Given the description of an element on the screen output the (x, y) to click on. 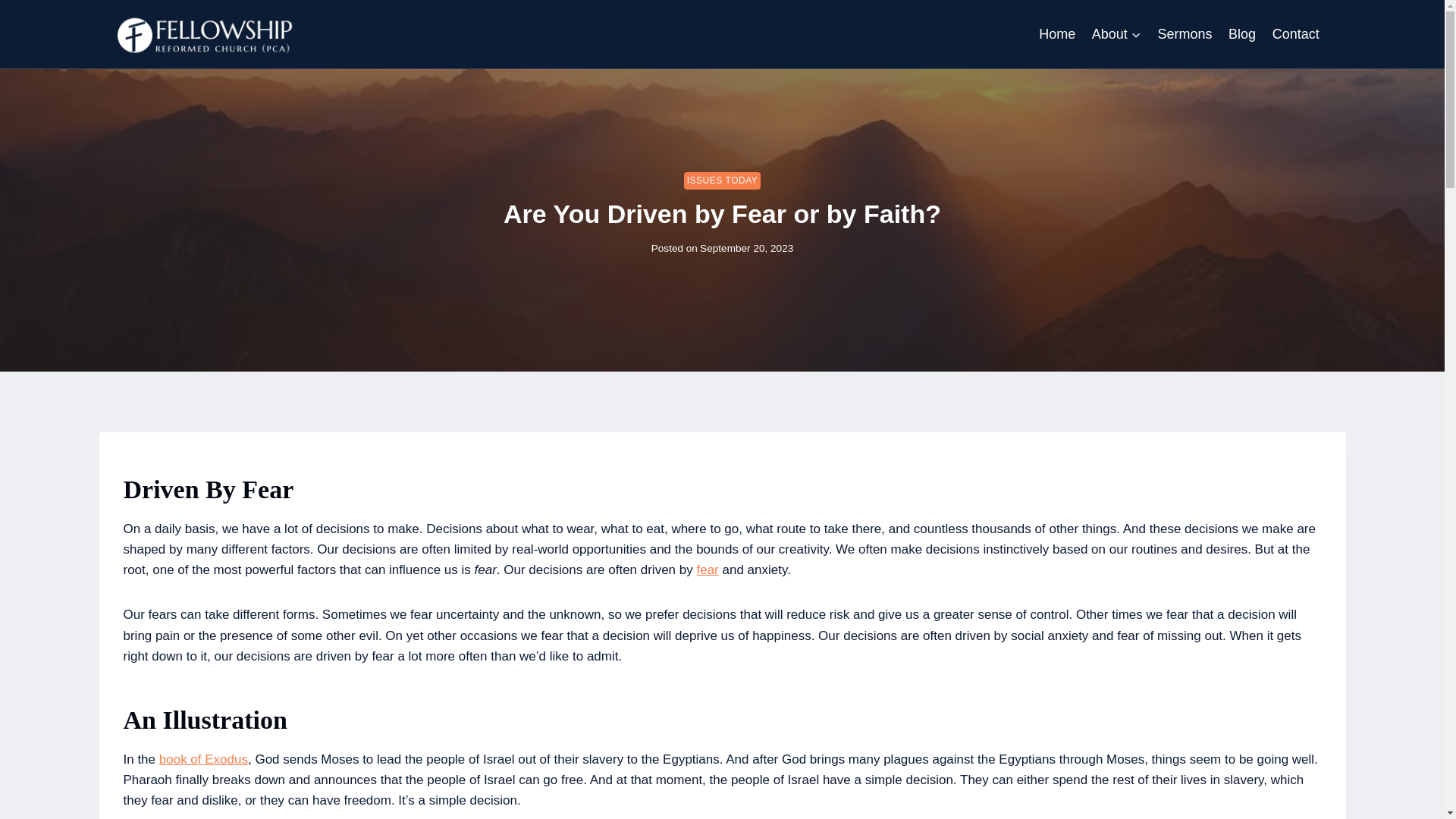
book of Exodus (202, 759)
About (1116, 34)
ISSUES TODAY (722, 180)
Blog (1241, 34)
Sermons (1185, 34)
Contact (1295, 34)
Home (1056, 34)
fear (706, 569)
